Given the description of an element on the screen output the (x, y) to click on. 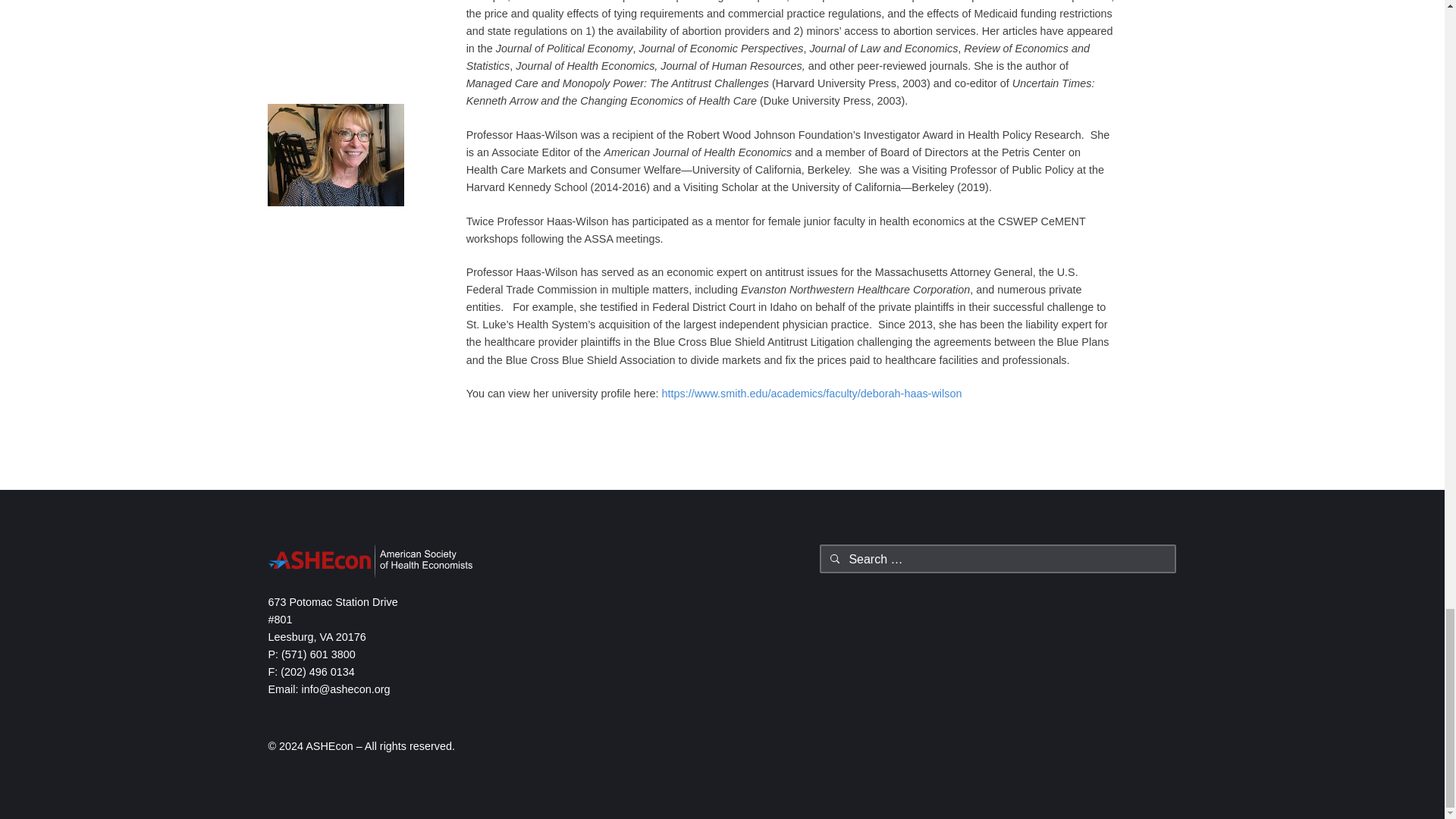
Search for: (997, 558)
